Given the description of an element on the screen output the (x, y) to click on. 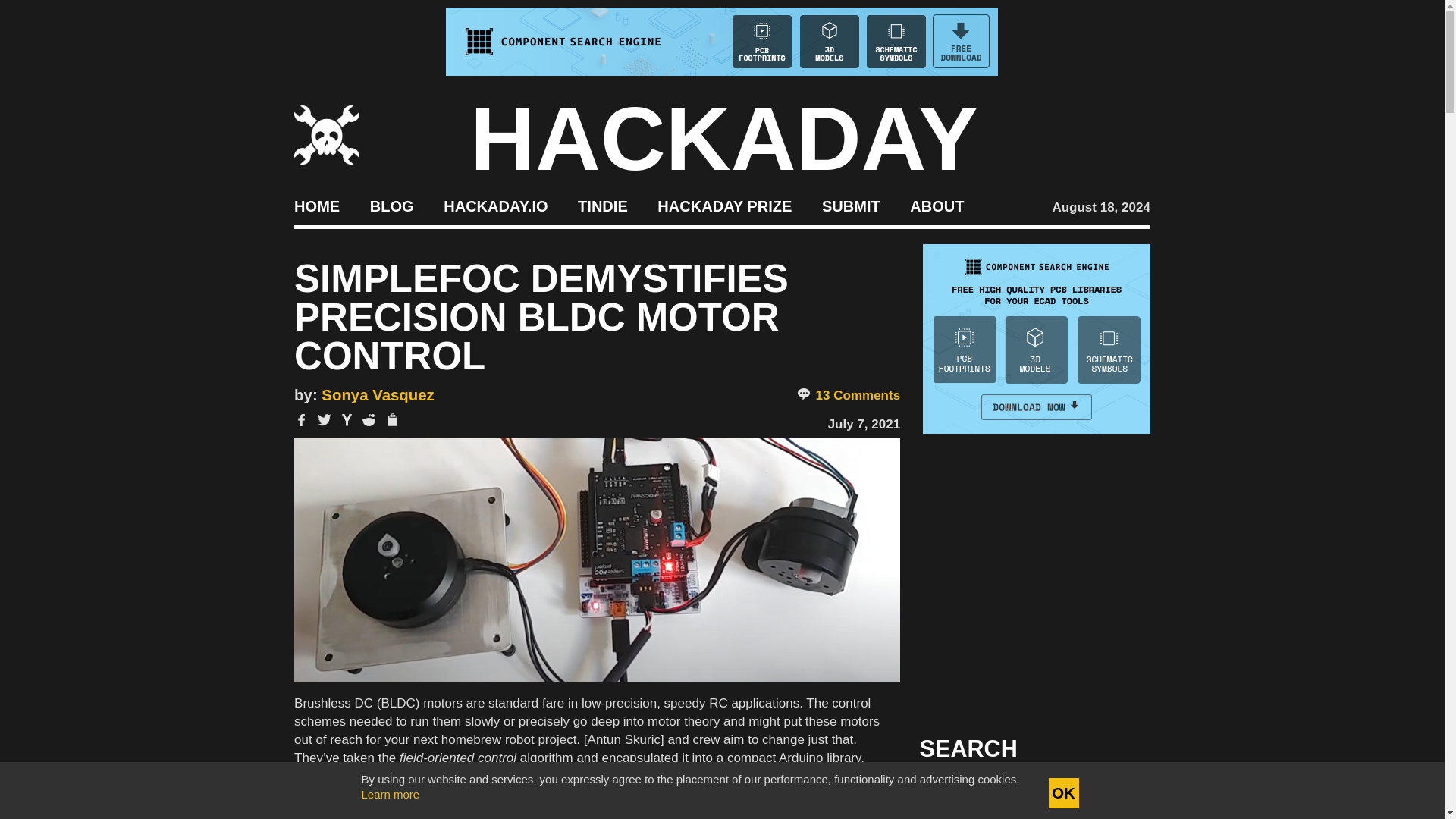
July 7, 2021 (863, 423)
Share on Hacker News (347, 420)
Share on Twitter (324, 420)
Copy title or shortlink (391, 420)
HOME (316, 205)
Share on Facebook (301, 420)
Search (1115, 792)
HACKADAY (724, 138)
BLOG (391, 205)
13 Comments (847, 395)
